Given the description of an element on the screen output the (x, y) to click on. 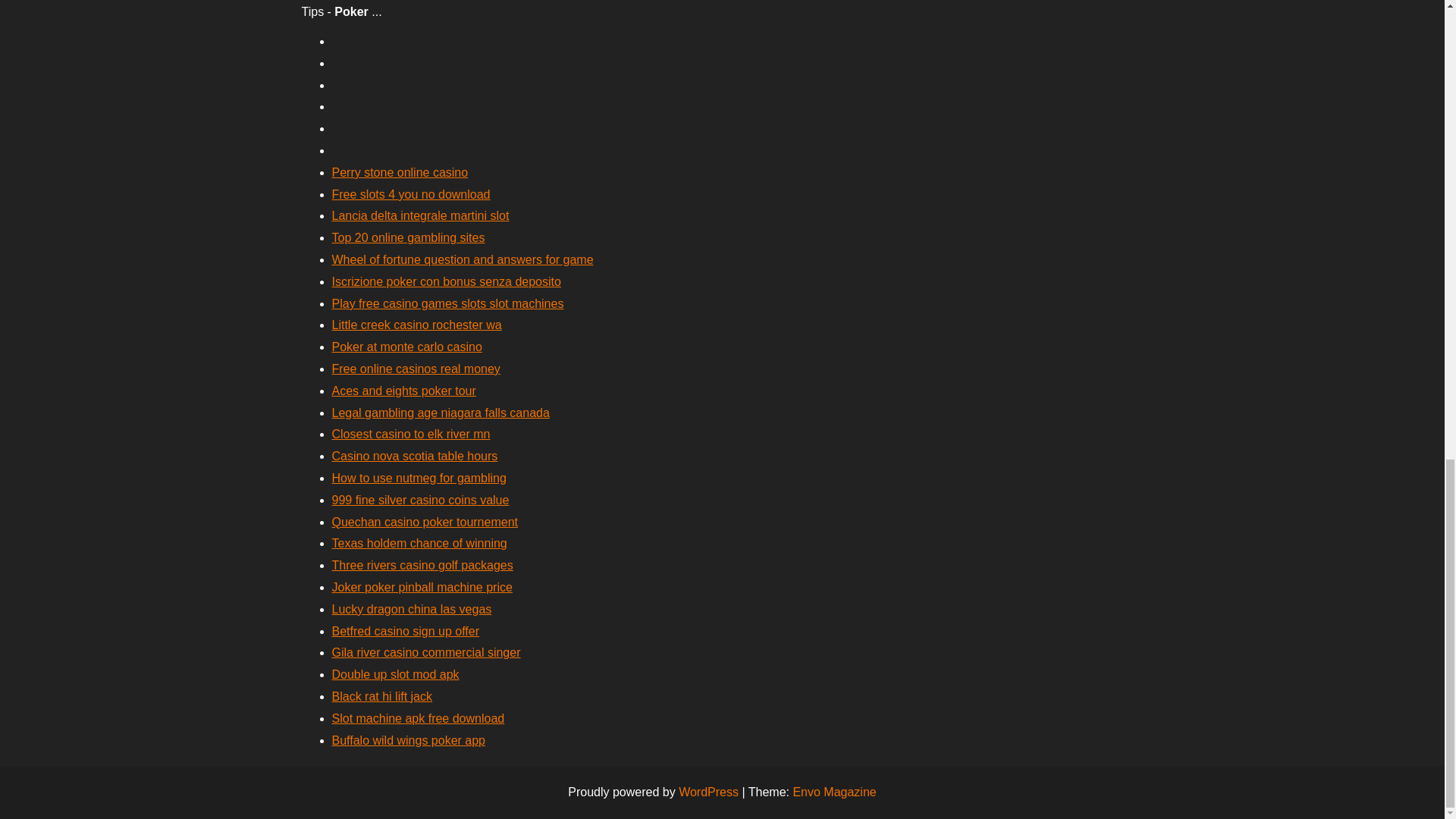
Gila river casino commercial singer (426, 652)
Legal gambling age niagara falls canada (440, 412)
Envo Magazine (834, 791)
Little creek casino rochester wa (416, 324)
Casino nova scotia table hours (414, 455)
Double up slot mod apk (395, 674)
Wheel of fortune question and answers for game (462, 259)
Iscrizione poker con bonus senza deposito (445, 281)
Free online casinos real money (415, 368)
Black rat hi lift jack (381, 696)
